Given the description of an element on the screen output the (x, y) to click on. 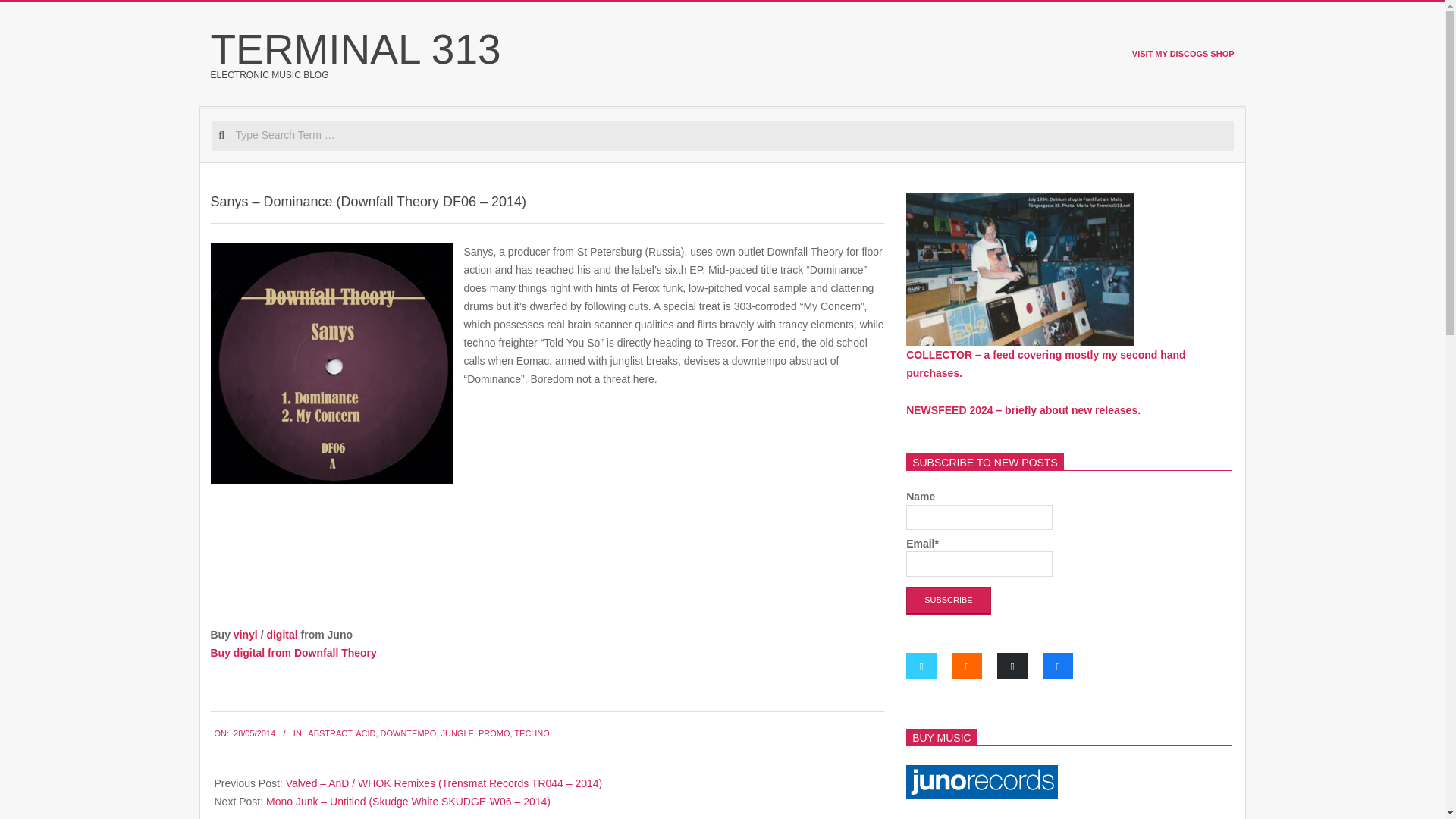
digital (281, 634)
PROMO (495, 732)
TERMINAL 313 (355, 48)
VISIT MY DISCOGS SHOP (1183, 52)
vinyl (246, 634)
Buy digital from Downfall Theory (294, 653)
Juno Record Logo (981, 781)
JUNGLE (457, 732)
DOWNTEMPO (408, 732)
Subscribe (947, 600)
ABSTRACT (328, 732)
TECHNO (530, 732)
Wednesday, May 28, 2014, 12:15 pm (253, 732)
ACID (365, 732)
Subscribe (947, 600)
